Given the description of an element on the screen output the (x, y) to click on. 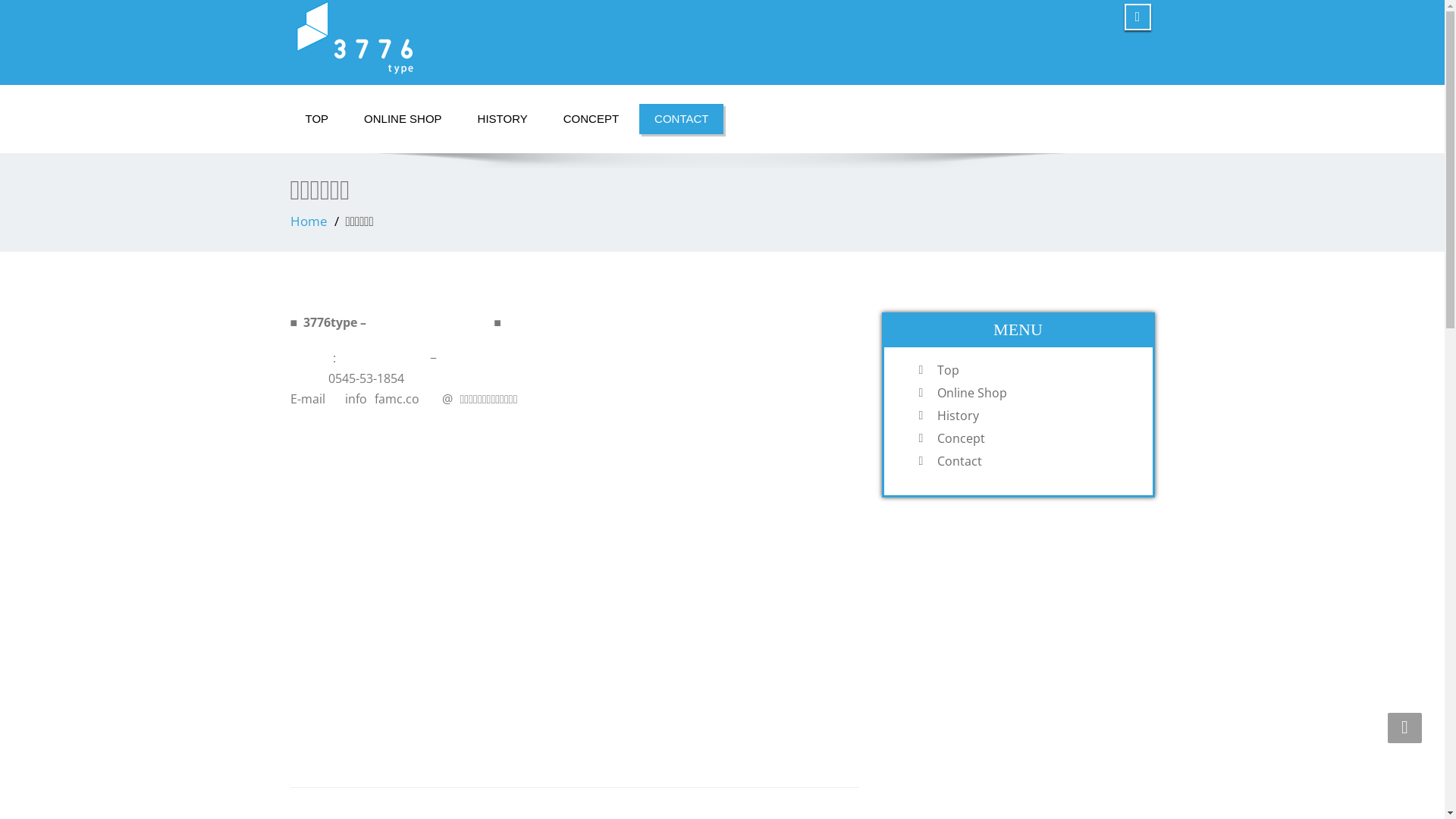
Online Shop Element type: text (1033, 392)
HISTORY Element type: text (502, 118)
Concept Element type: text (1033, 437)
3776type Element type: hover (499, 37)
CONCEPT Element type: text (590, 118)
Go Top Element type: hover (1404, 727)
Contact Element type: text (1033, 460)
ONLINE SHOP Element type: text (402, 118)
CONTACT Element type: text (681, 118)
History Element type: text (1033, 415)
Top Element type: text (1033, 369)
TOP Element type: text (316, 118)
Home Element type: text (307, 220)
